Given the description of an element on the screen output the (x, y) to click on. 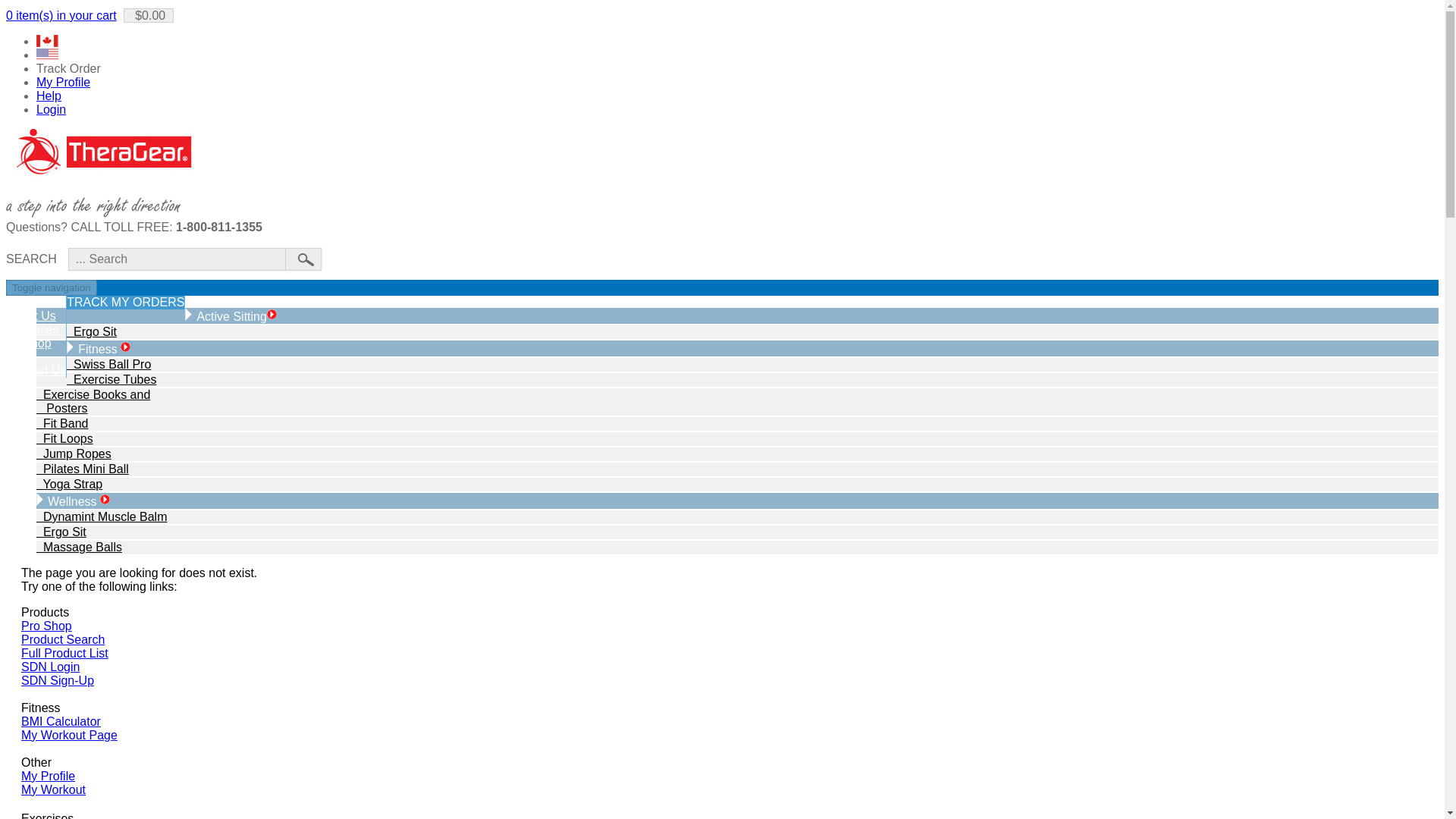
Toggle navigation (51, 287)
My Profile (63, 82)
  Dynamint Muscle Balm (101, 516)
  Fit Band (61, 422)
  Yoga Strap (68, 483)
SDN Login (50, 666)
  Pilates Mini Ball (82, 468)
Exercises (31, 328)
Track Order (68, 68)
Pro Shop (46, 625)
  Ergo Sit (91, 331)
BMI Calculator (60, 721)
Login (50, 109)
Proshop (27, 342)
  Massage Balls (79, 546)
